Given the description of an element on the screen output the (x, y) to click on. 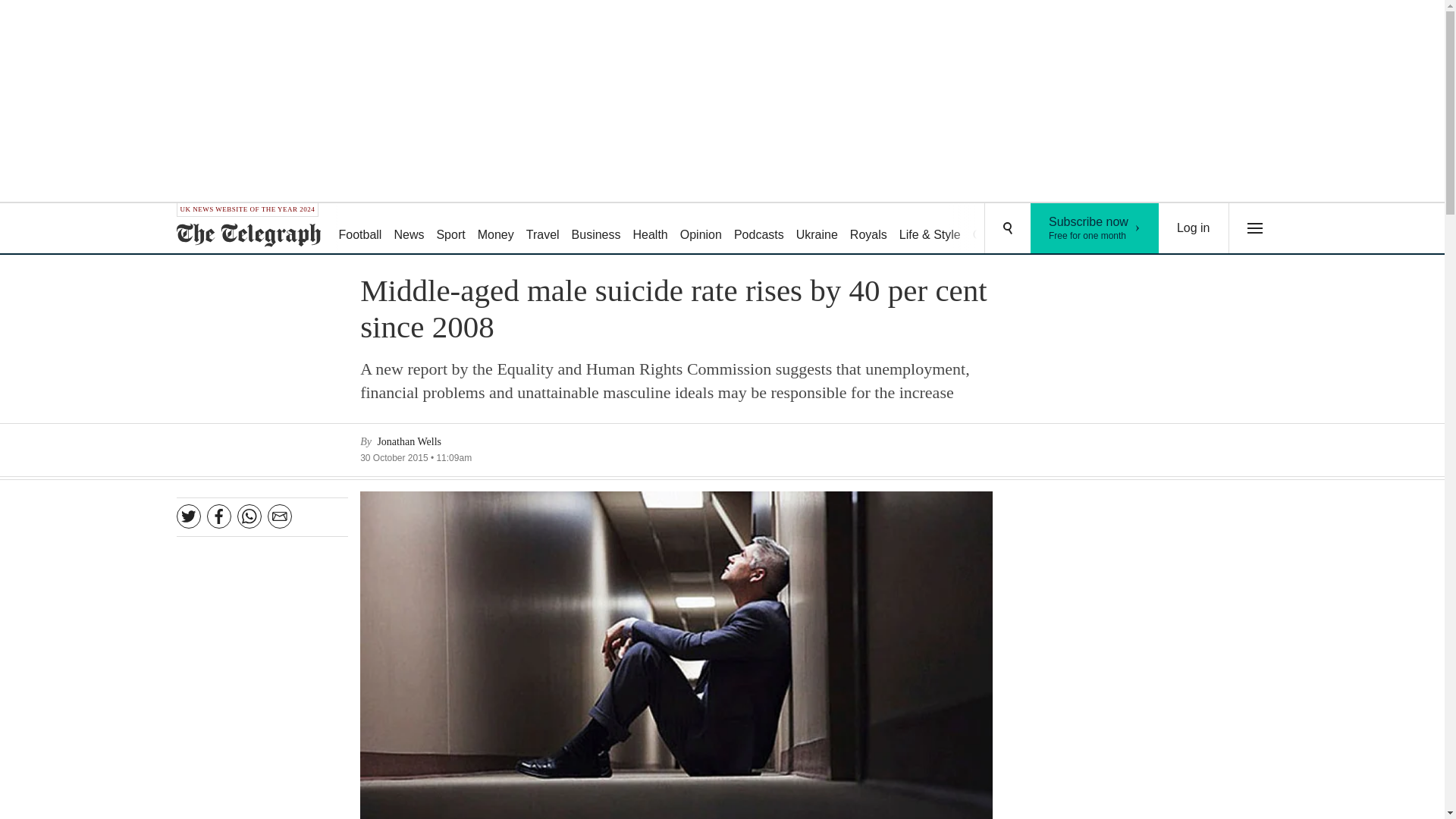
Money (495, 228)
Business (596, 228)
Podcasts (759, 228)
Opinion (701, 228)
Royals (868, 228)
Ukraine (817, 228)
Culture (991, 228)
Health (649, 228)
Puzzles (1044, 228)
Travel (542, 228)
Football (1094, 228)
Log in (359, 228)
